Given the description of an element on the screen output the (x, y) to click on. 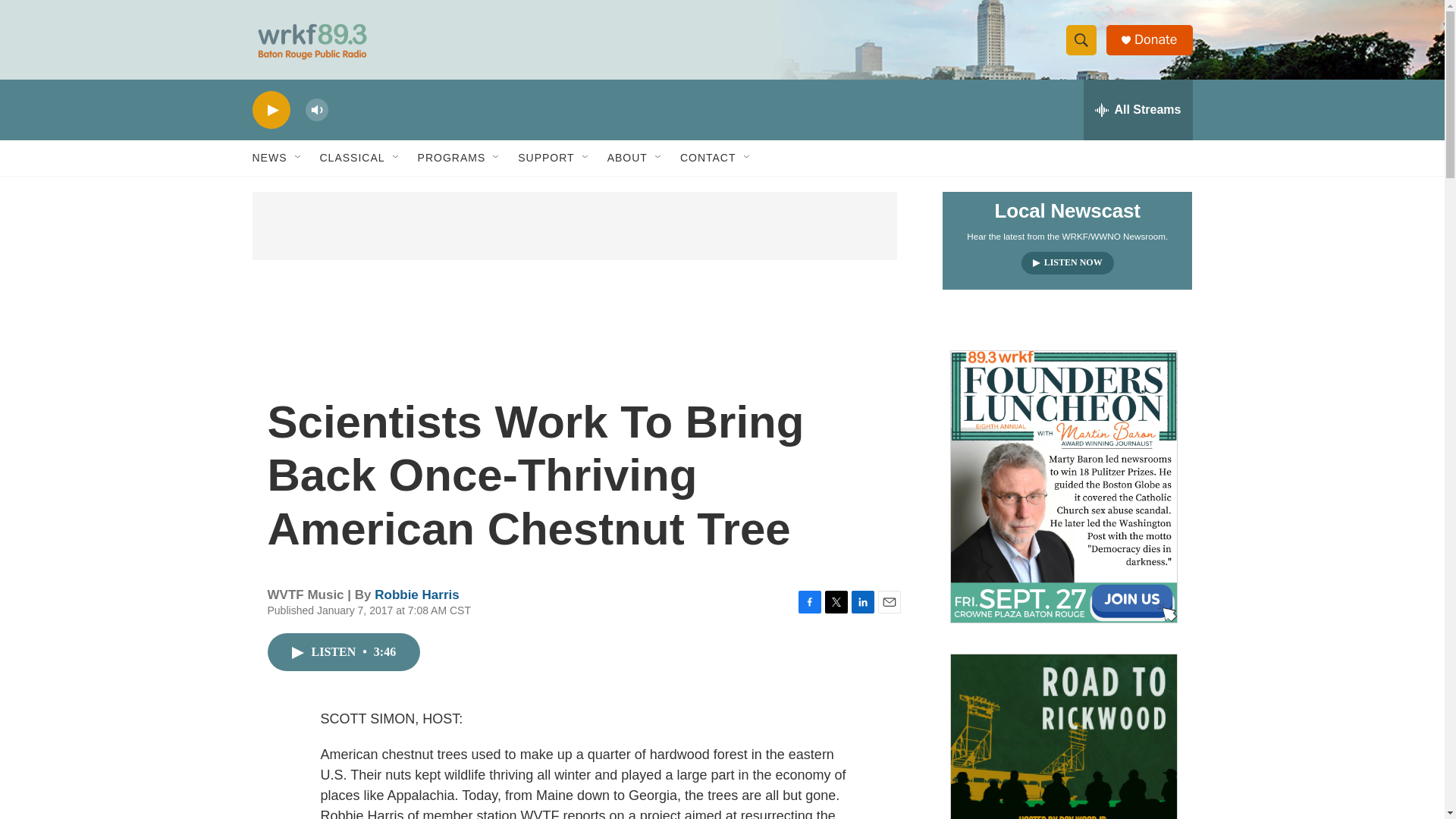
3rd party ad content (574, 225)
